Given the description of an element on the screen output the (x, y) to click on. 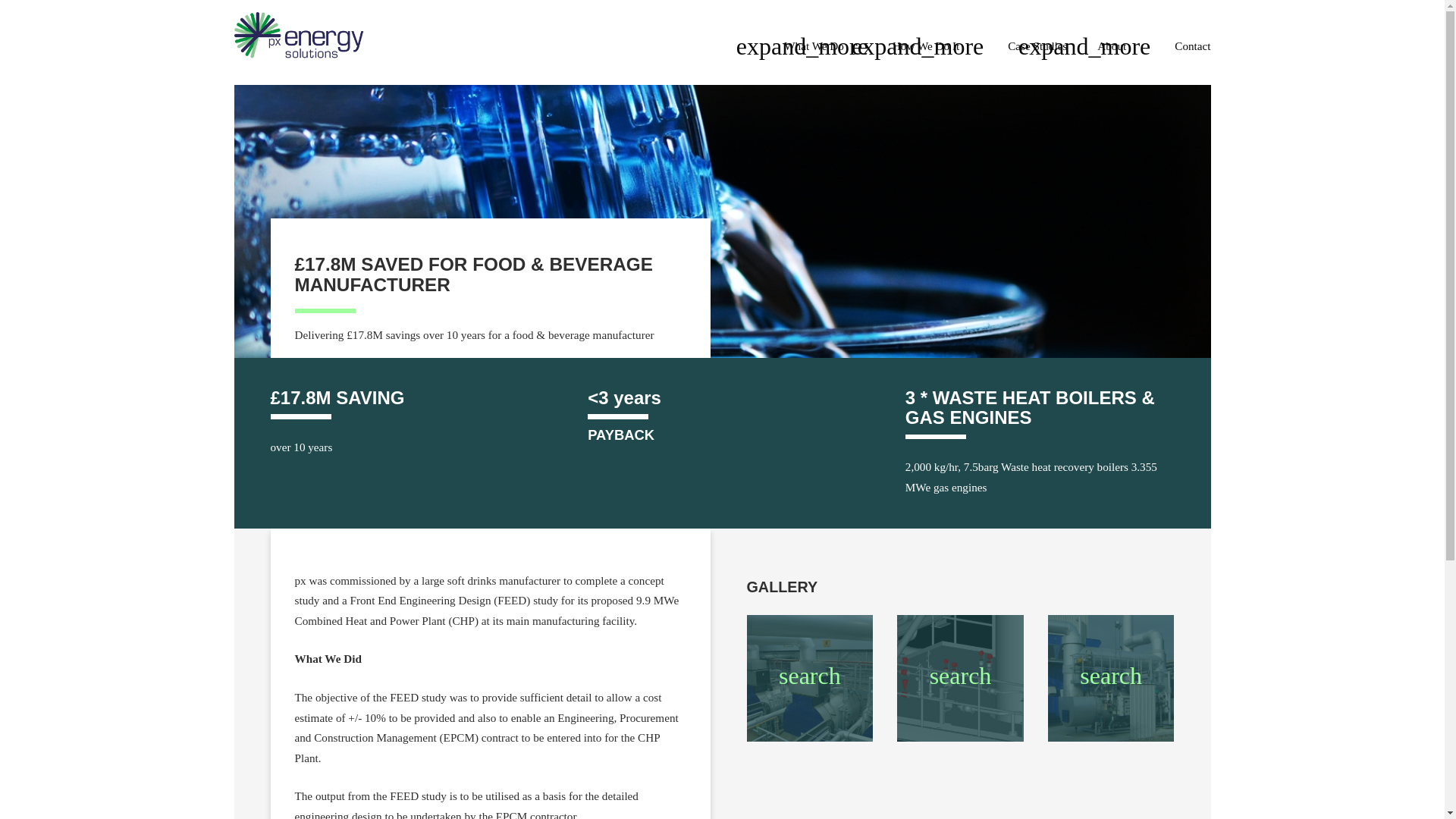
What We Do (822, 45)
px Energy Solutions (298, 21)
Contact (1191, 45)
Case Studies (1037, 45)
How We Do It (934, 45)
About (1120, 45)
